Given the description of an element on the screen output the (x, y) to click on. 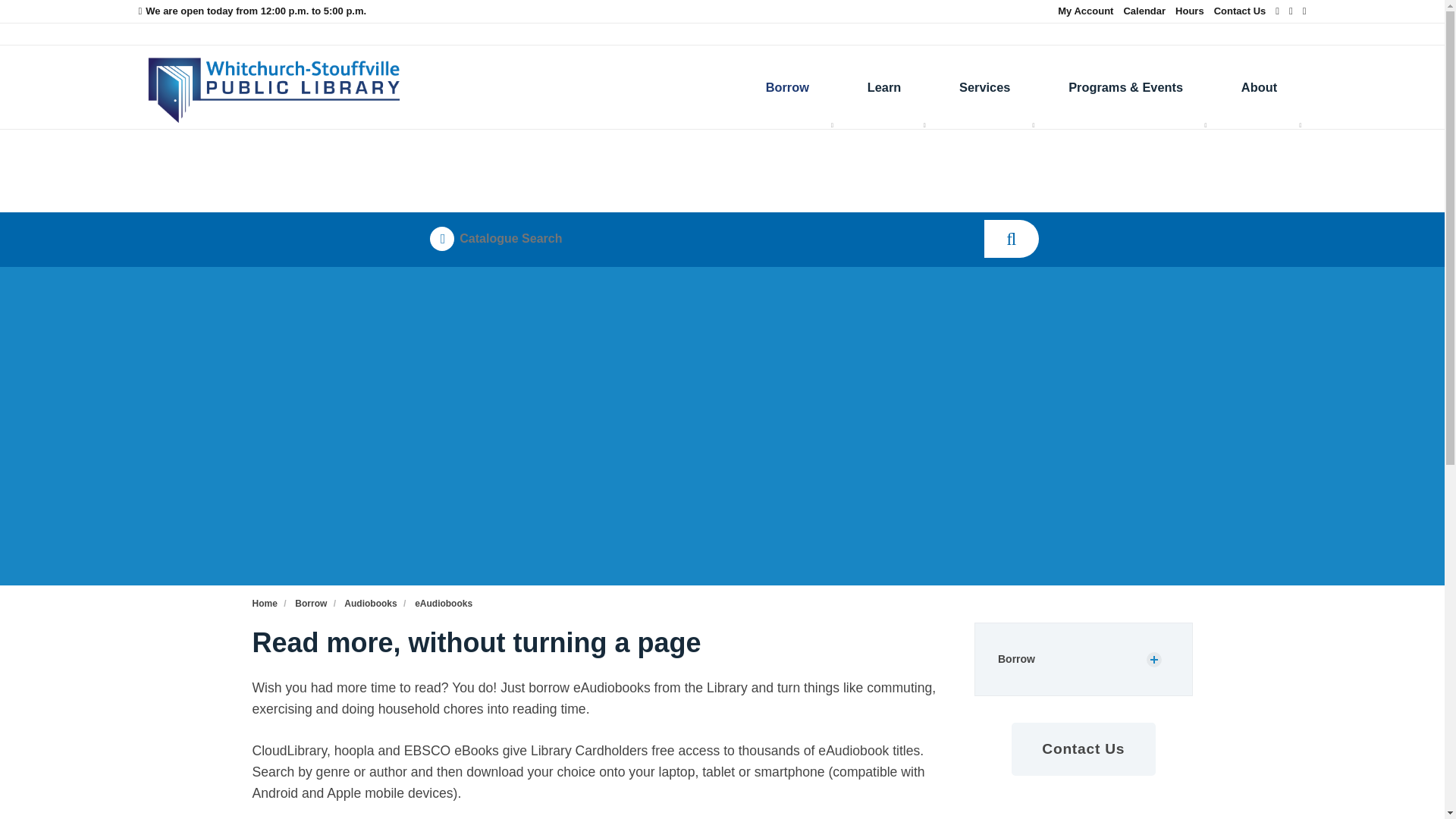
Contact Us (1240, 11)
My Account (1085, 11)
Borrow (787, 86)
Hours (1189, 11)
Whitchurch-Stouffville Public Library (273, 86)
We are open today from 12:00 p.m. to 5:00 p.m. (252, 11)
Learn (884, 86)
Calendar (1144, 11)
